Given the description of an element on the screen output the (x, y) to click on. 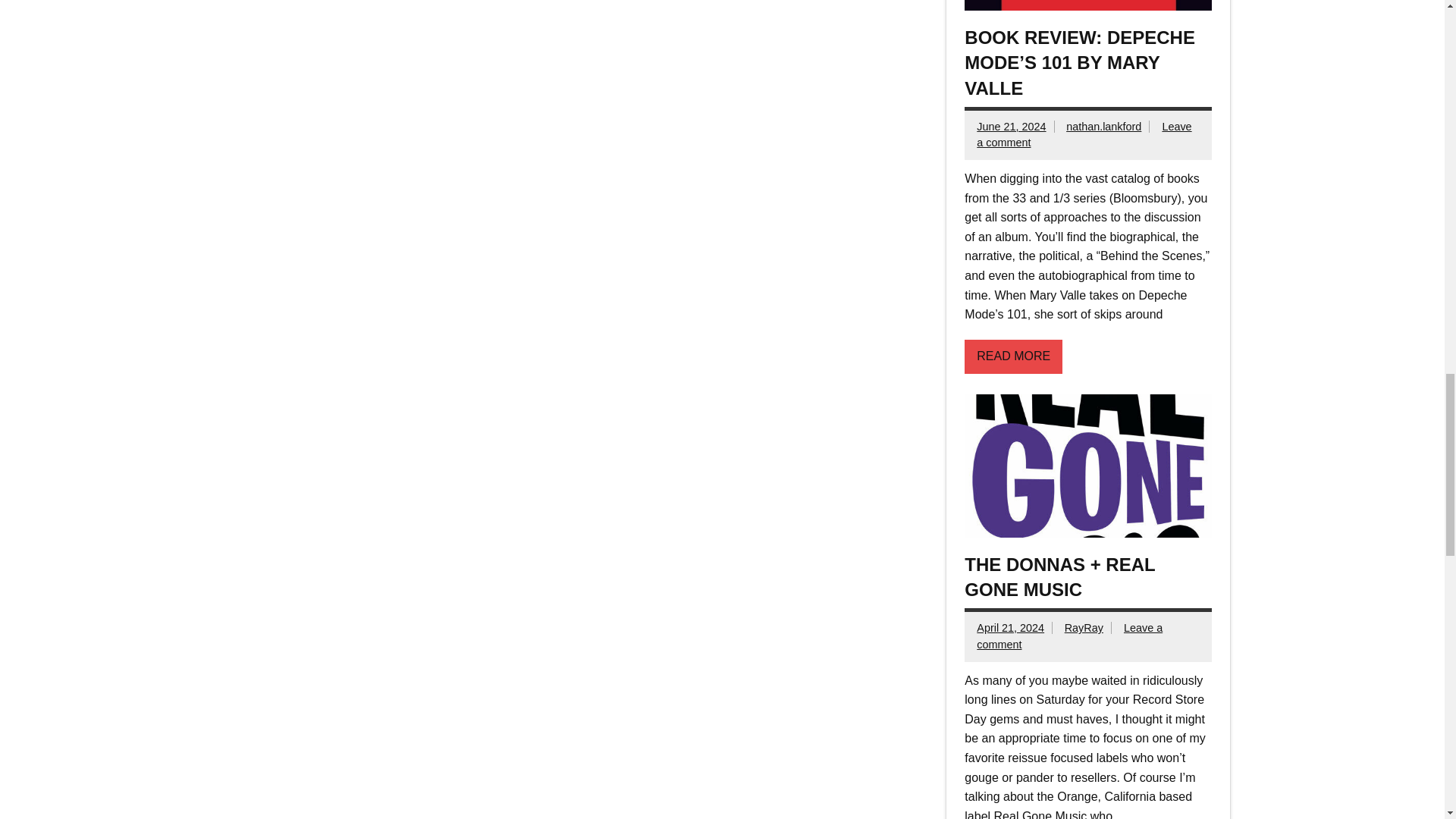
View all posts by nathan.lankford (1103, 126)
11:06 am (1010, 126)
